Given the description of an element on the screen output the (x, y) to click on. 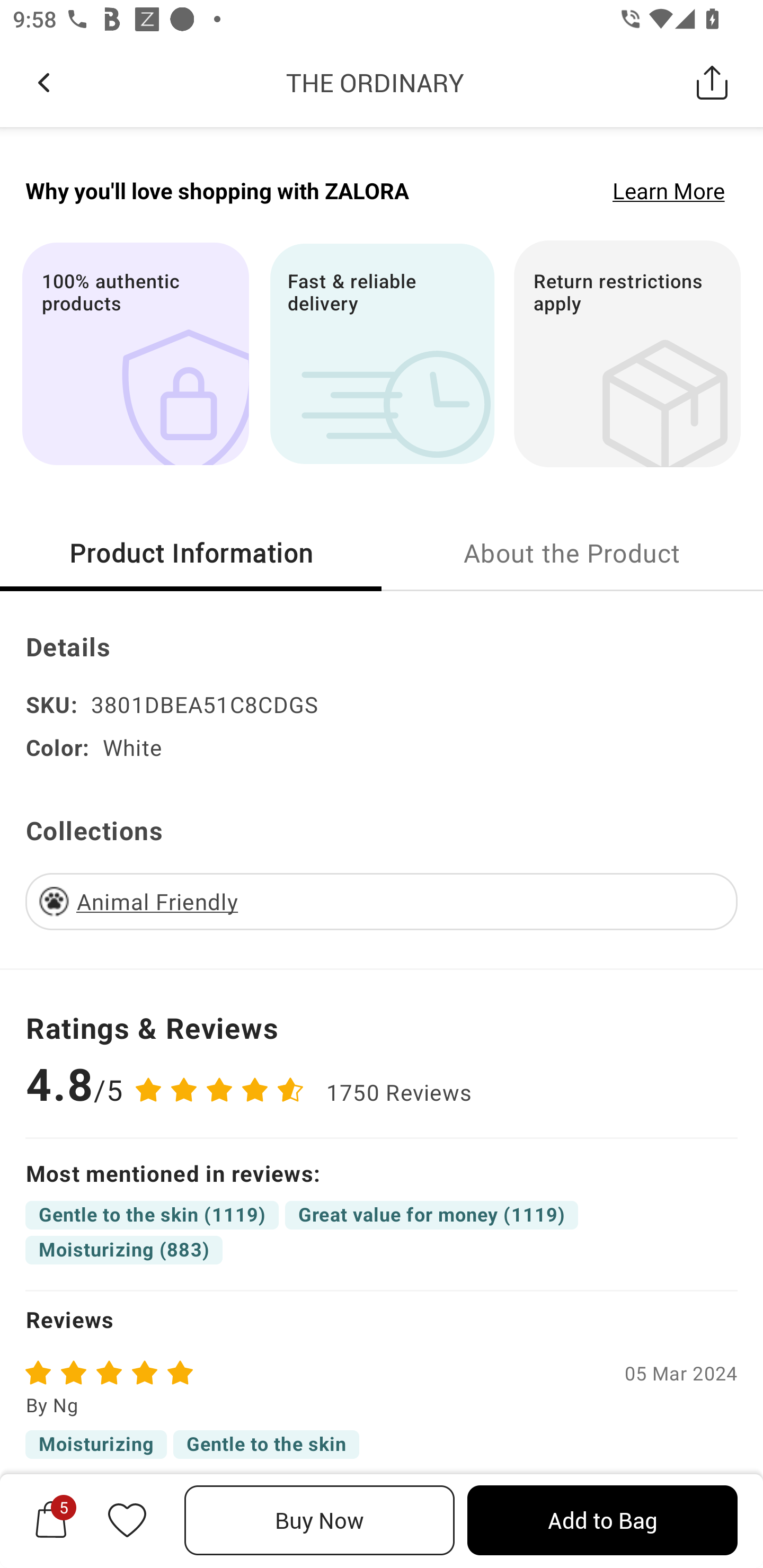
THE ORDINARY (375, 82)
Share this Product (711, 82)
Learn More (668, 190)
100% authentic products (135, 353)
Fast & reliable delivery (381, 353)
Return restrictions apply (627, 353)
About the Product (572, 552)
Animal Friendly (157, 900)
Buy Now (319, 1519)
Add to Bag (601, 1519)
5 (50, 1520)
